Given the description of an element on the screen output the (x, y) to click on. 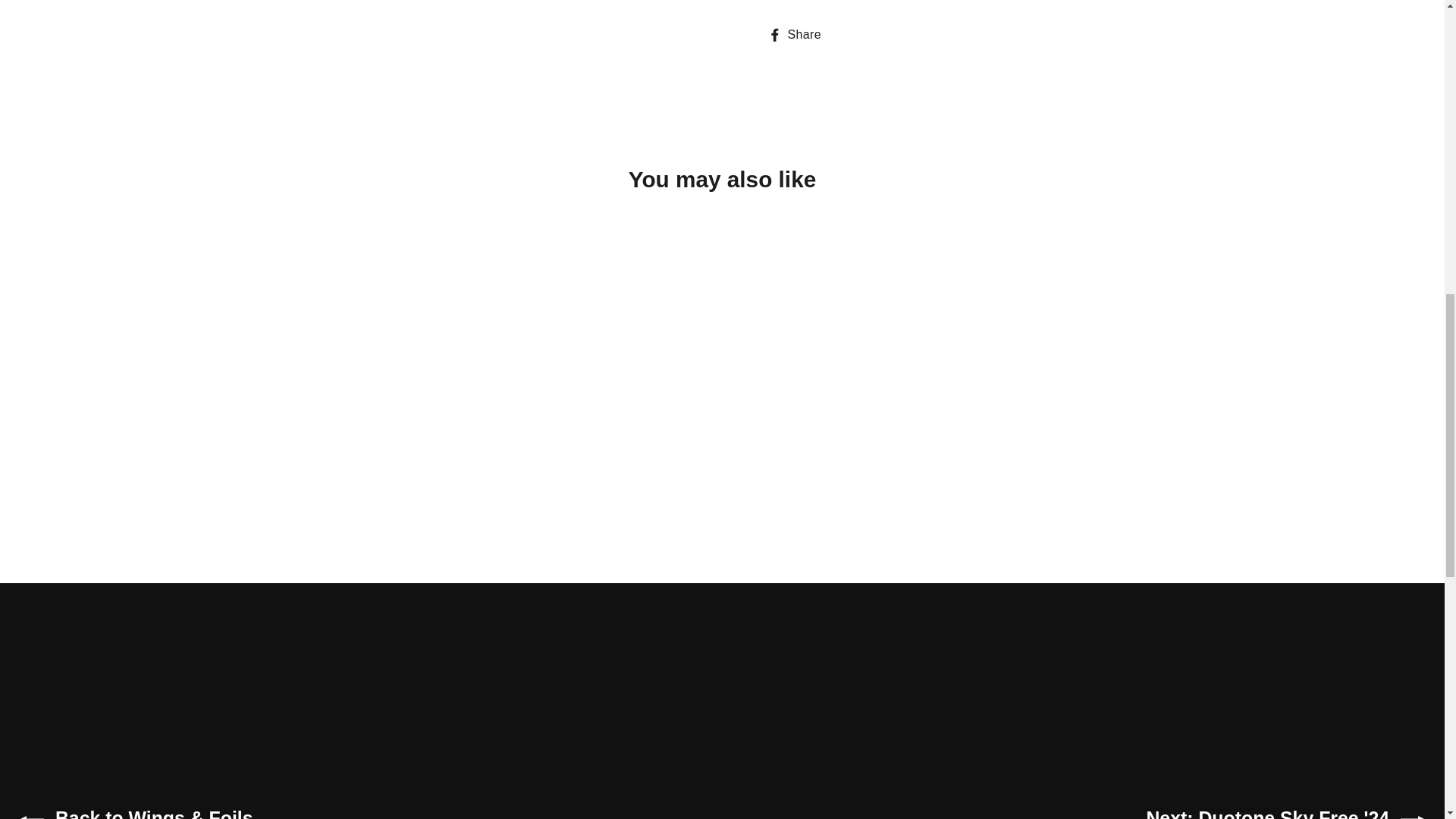
Share on Facebook (799, 34)
